Given the description of an element on the screen output the (x, y) to click on. 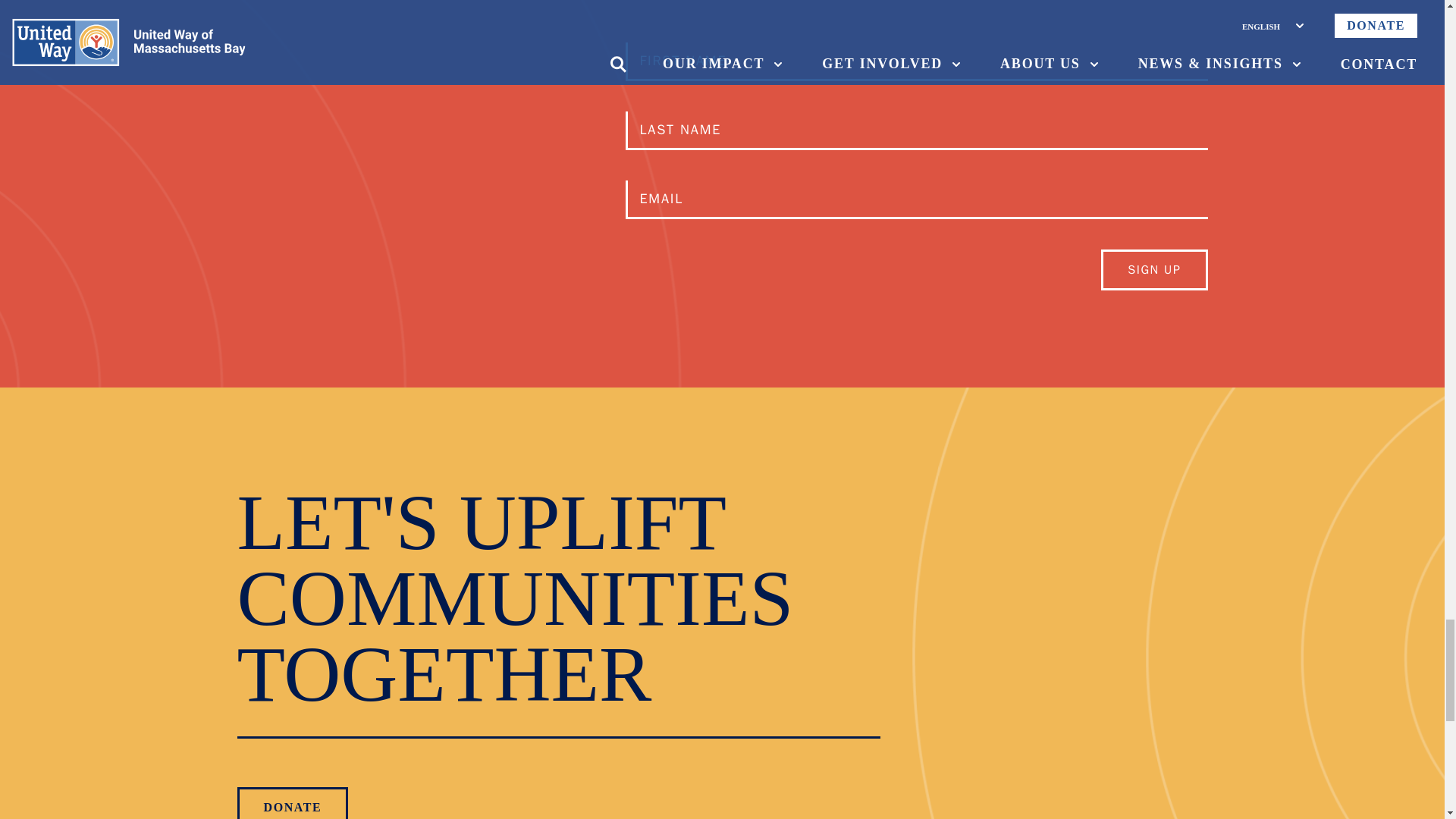
SIGN UP (1153, 269)
DONATE (291, 803)
